Given the description of an element on the screen output the (x, y) to click on. 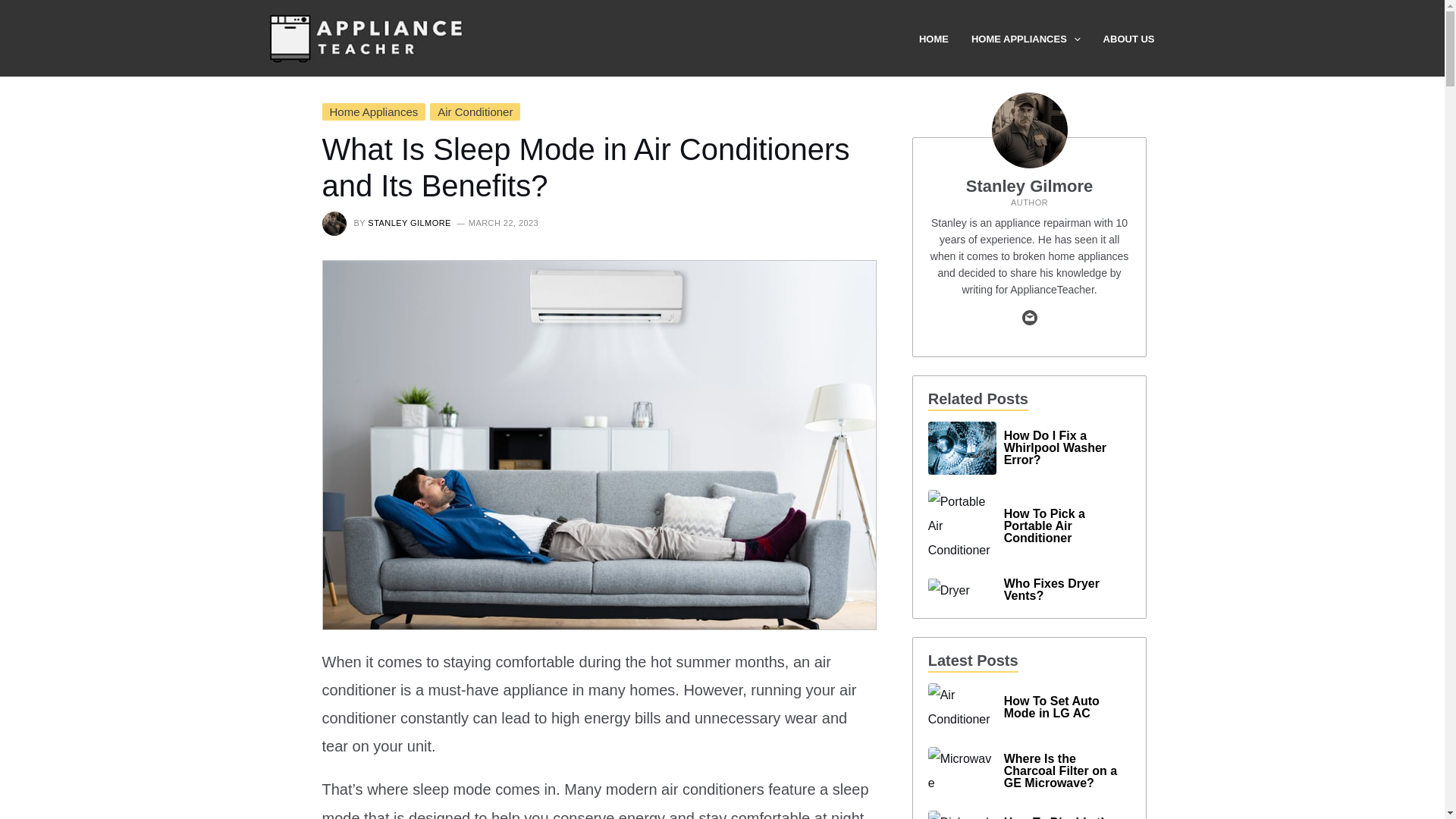
Where Is The Charcoal Filter On A Ge Microwave? 11 (961, 770)
How To Disable The Child Lock On A Samsung Dishwasher 12 (961, 814)
How To Pick A Portable Air Conditioner 8 (961, 525)
ABOUT US (1140, 39)
How Do I Fix A Whirlpool Washer Error? 7 (961, 448)
HOME APPLIANCES (1037, 39)
Who Fixes Dryer Vents? 9 (948, 590)
HOME (944, 39)
How To Set Auto Mode In Lg Ac 10 (961, 707)
